Given the description of an element on the screen output the (x, y) to click on. 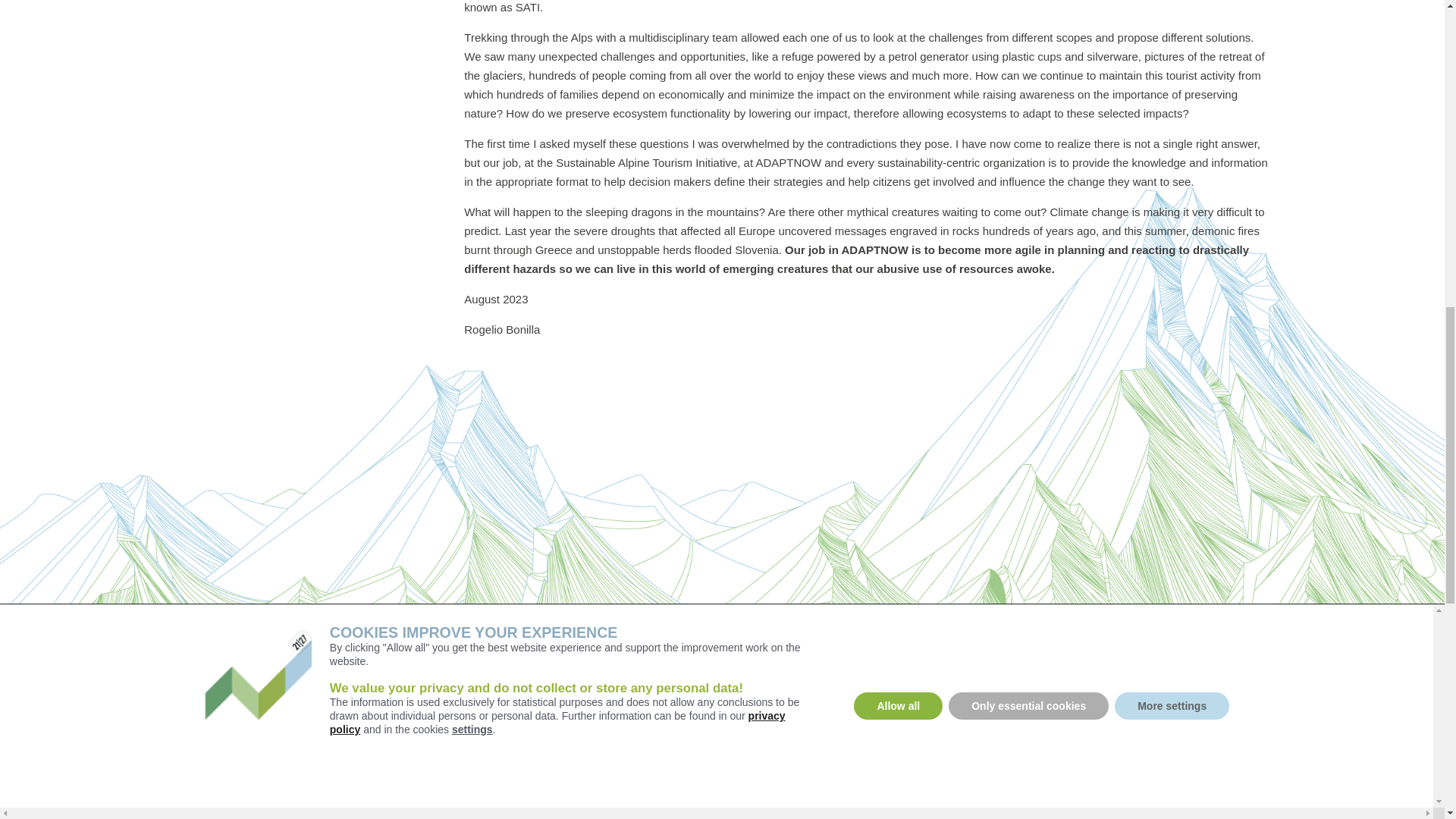
SymbolBig-period (370, 770)
